Given the description of an element on the screen output the (x, y) to click on. 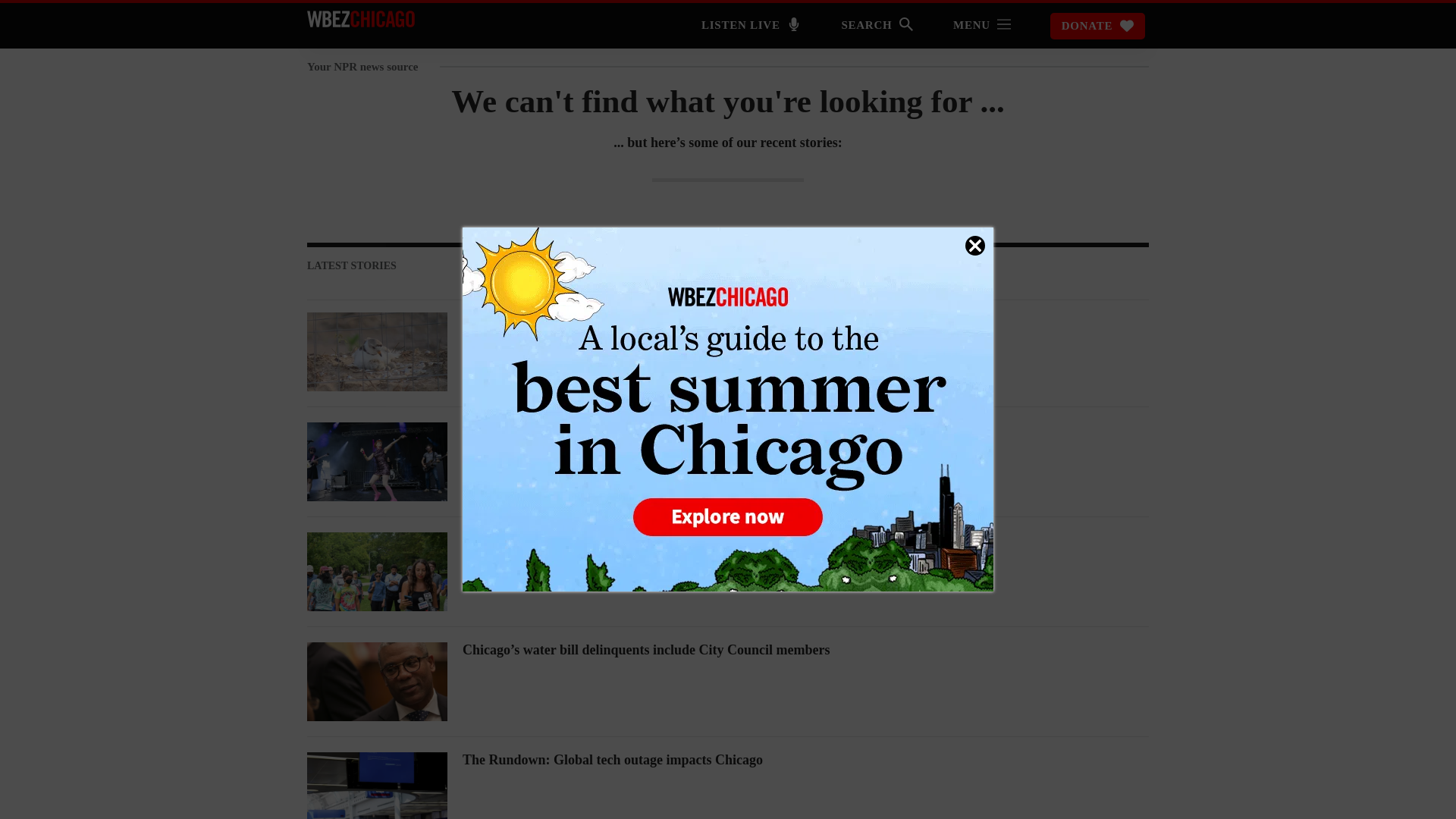
Close (975, 245)
SEARCH (876, 27)
